Given the description of an element on the screen output the (x, y) to click on. 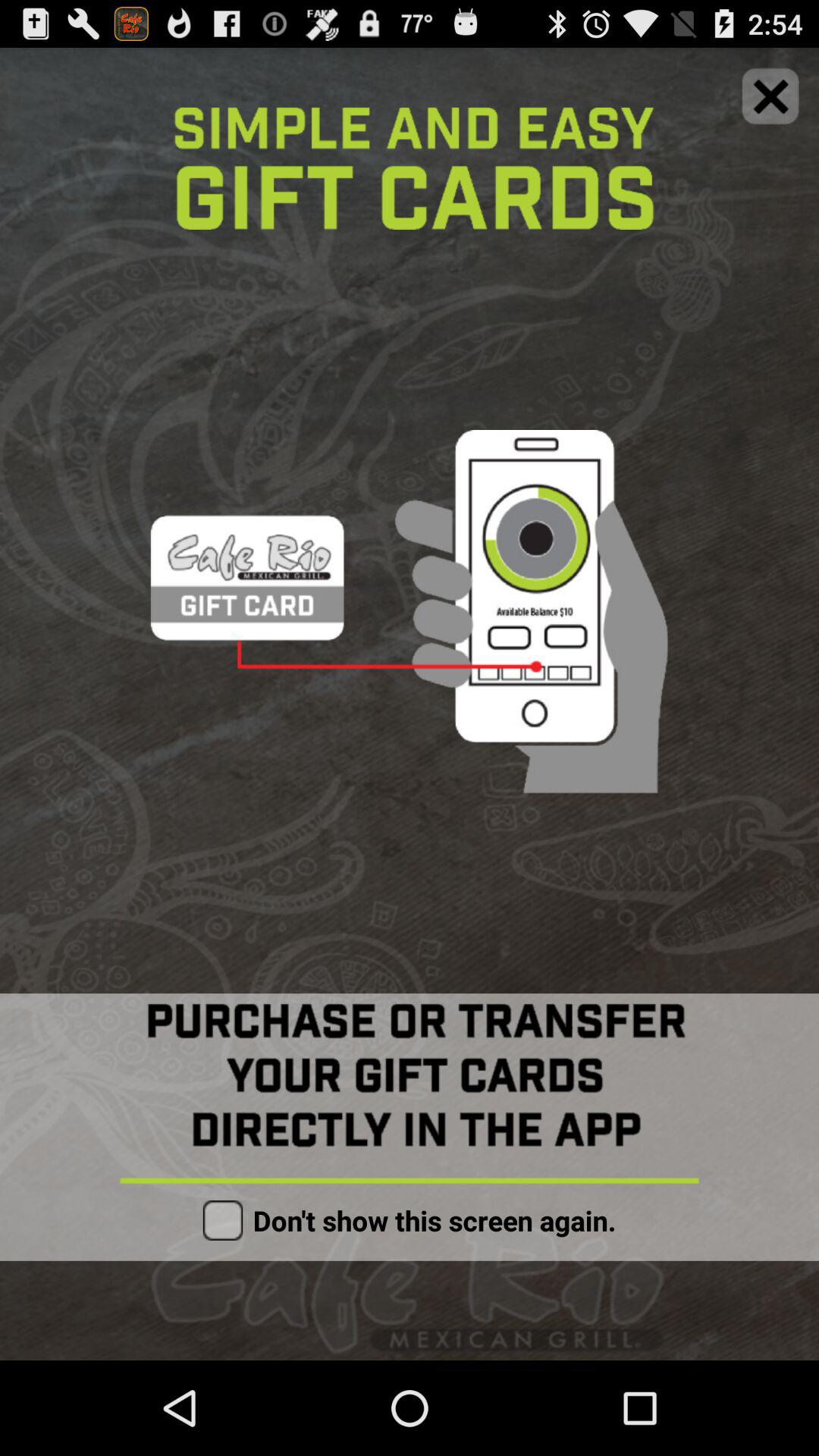
select button (222, 1220)
